Given the description of an element on the screen output the (x, y) to click on. 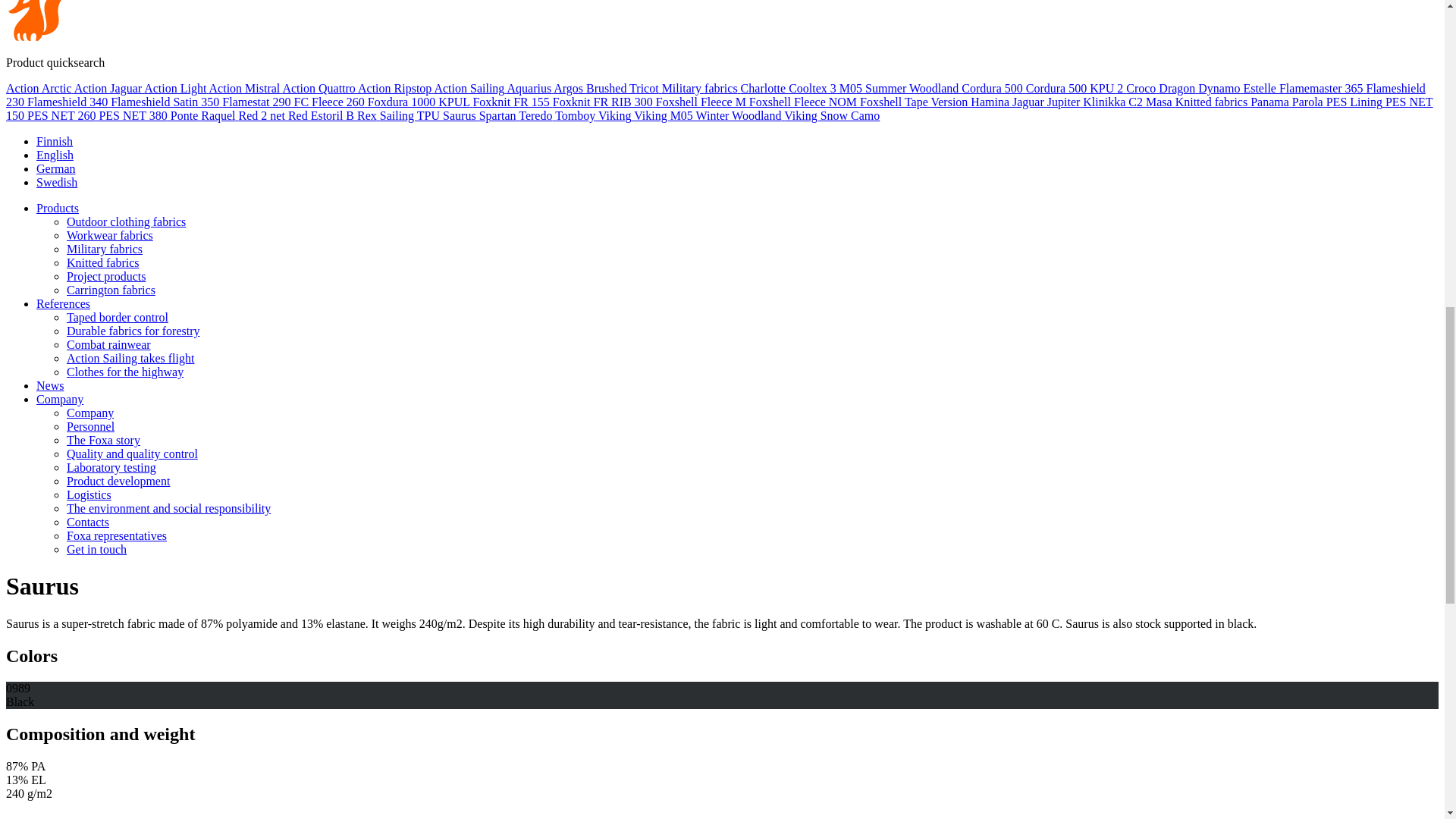
Klinikka C2 (1114, 101)
Action Quattro (320, 88)
Foxshell Tape Version (915, 101)
Dynamo (1220, 88)
Action Arctic (39, 88)
Aquarius (529, 88)
Military fabrics (701, 88)
Foxknit FR 155 (511, 101)
Cordura 500 KPU 2 (1075, 88)
Cordura 500 (992, 88)
Action Jaguar (109, 88)
Parola (1309, 101)
Flamemaster 365 (1323, 88)
Jupiter (1064, 101)
Dragon (1178, 88)
